Given the description of an element on the screen output the (x, y) to click on. 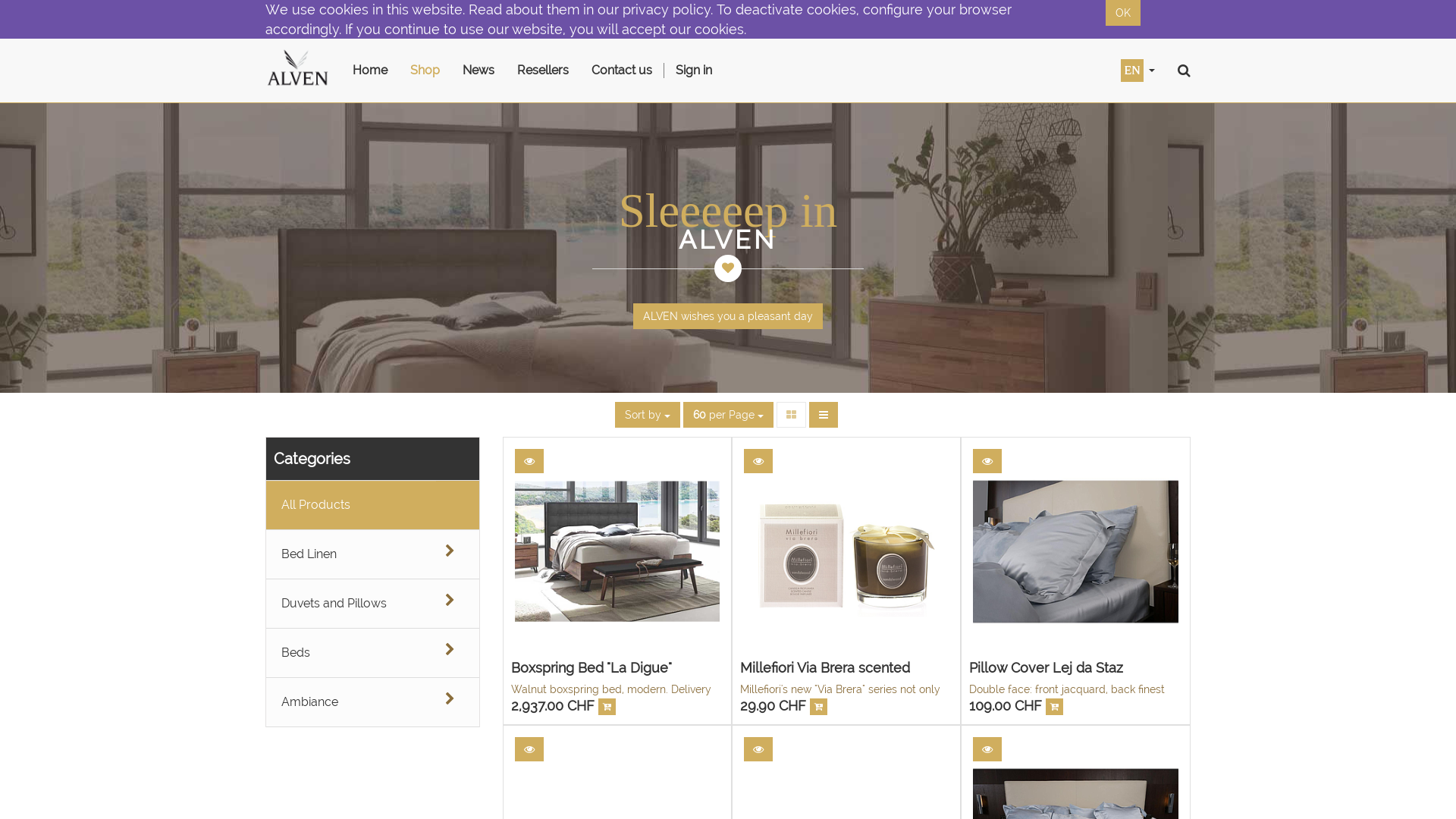
Sign in Element type: text (693, 70)
Quick view Element type: hover (757, 749)
Sort by Element type: text (646, 414)
OK Element type: text (1122, 12)
Quick view Element type: hover (528, 460)
List View Element type: hover (822, 414)
Resellers Element type: text (542, 70)
ALVEN wishes you a pleasant day Element type: text (727, 316)
Quick view Element type: hover (986, 749)
Ambiance Element type: text (351, 701)
Quick view Element type: hover (986, 460)
News Element type: text (478, 70)
Beds Element type: text (351, 652)
All Products Element type: text (351, 504)
Grid View Element type: hover (791, 414)
Quick view Element type: hover (528, 749)
Home Element type: text (369, 70)
Bed Linen Element type: text (351, 554)
Alven GmbH Element type: hover (297, 70)
60 per Page Element type: text (727, 414)
Contact us Element type: text (621, 70)
Pillow Cover Lej da Staz Element type: text (1046, 667)
Millefiori Via Brera scented candles Element type: text (825, 674)
Quick view Element type: hover (757, 460)
privacy policy Element type: text (666, 9)
English Element type: hover (1131, 70)
Duvets and Pillows Element type: text (351, 603)
Boxspring Bed "La Digue" Element type: text (591, 667)
Shop Element type: text (424, 70)
